Given the description of an element on the screen output the (x, y) to click on. 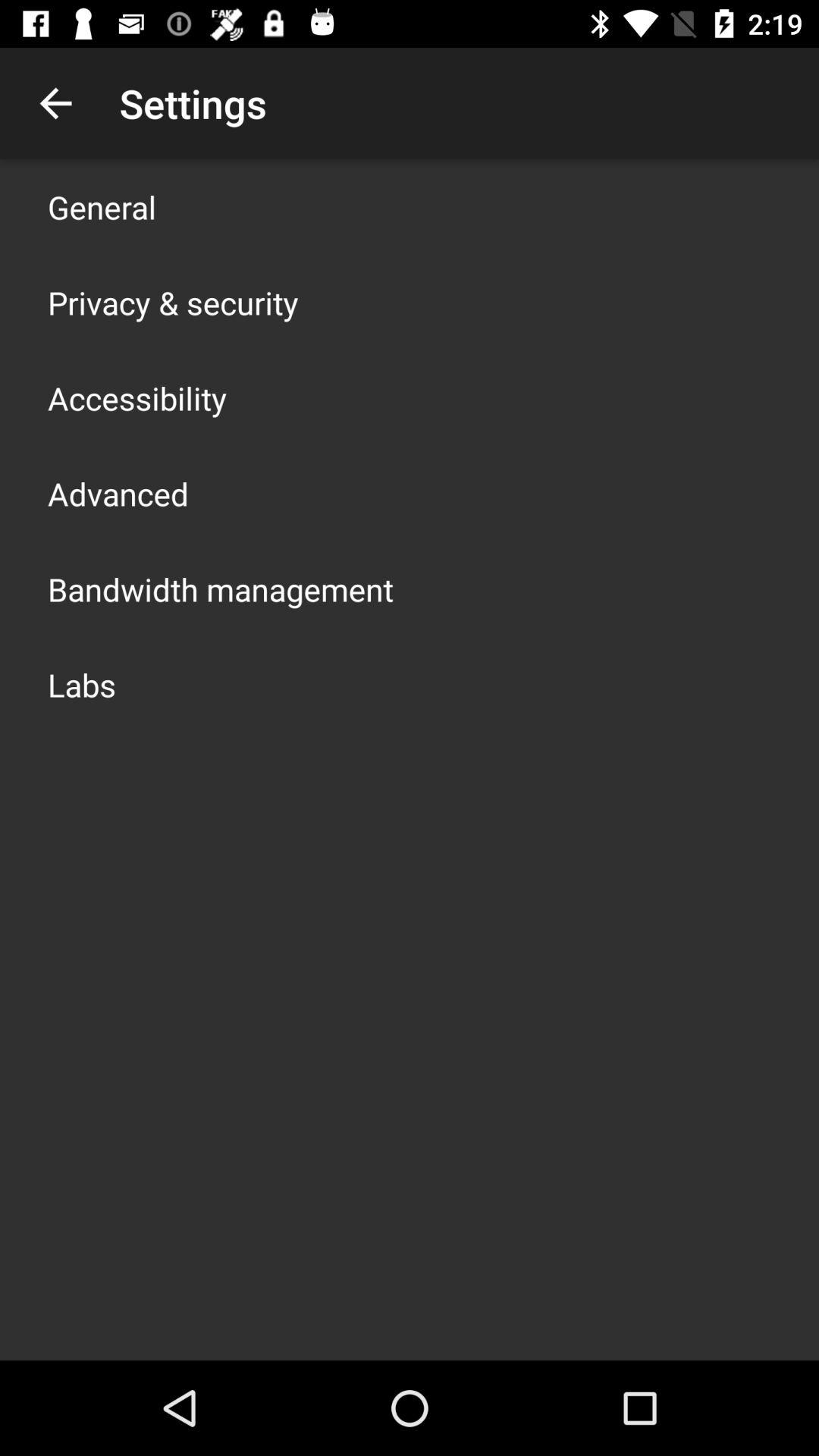
press the icon above the general icon (55, 103)
